Given the description of an element on the screen output the (x, y) to click on. 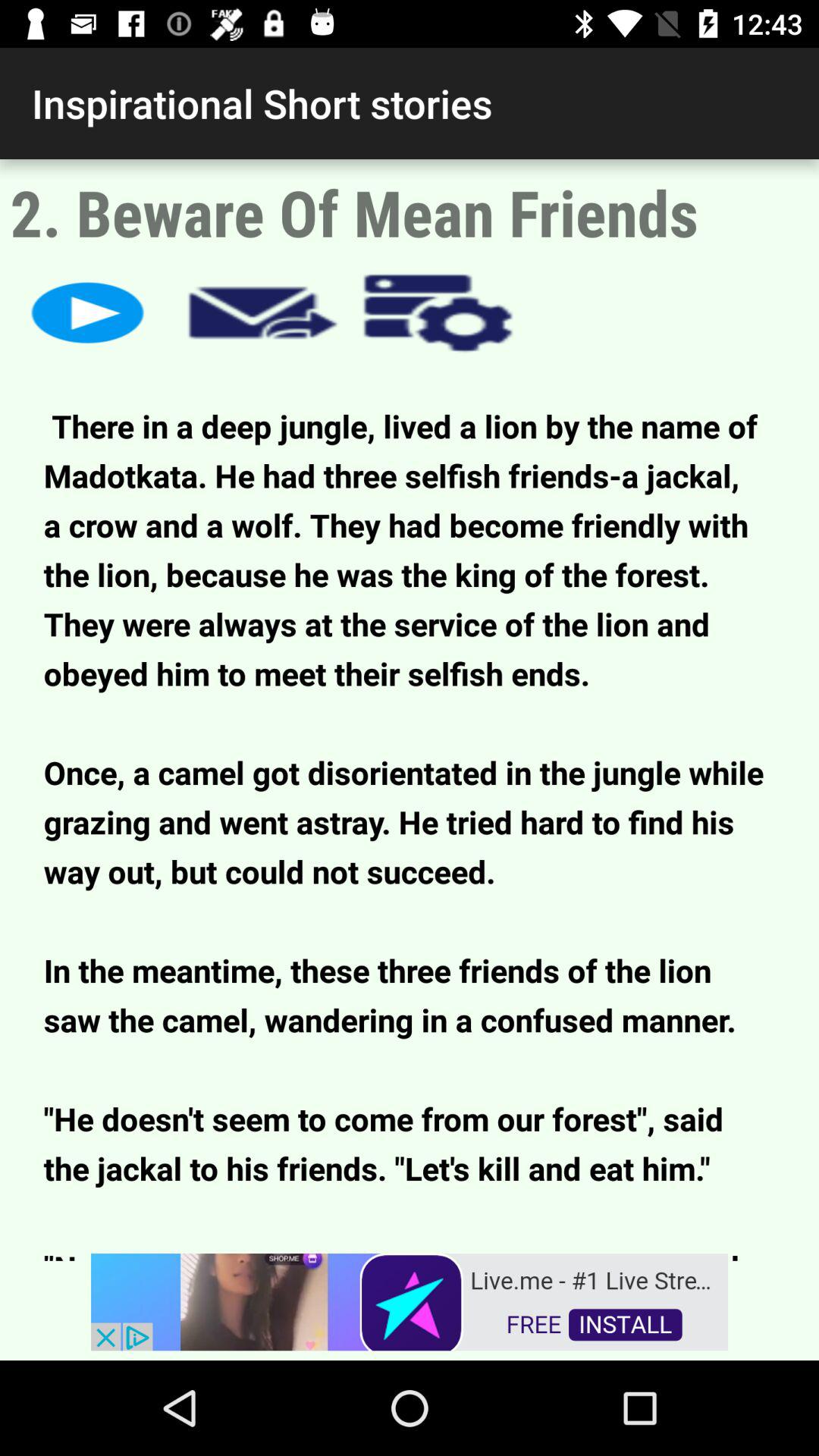
settings button (437, 312)
